Given the description of an element on the screen output the (x, y) to click on. 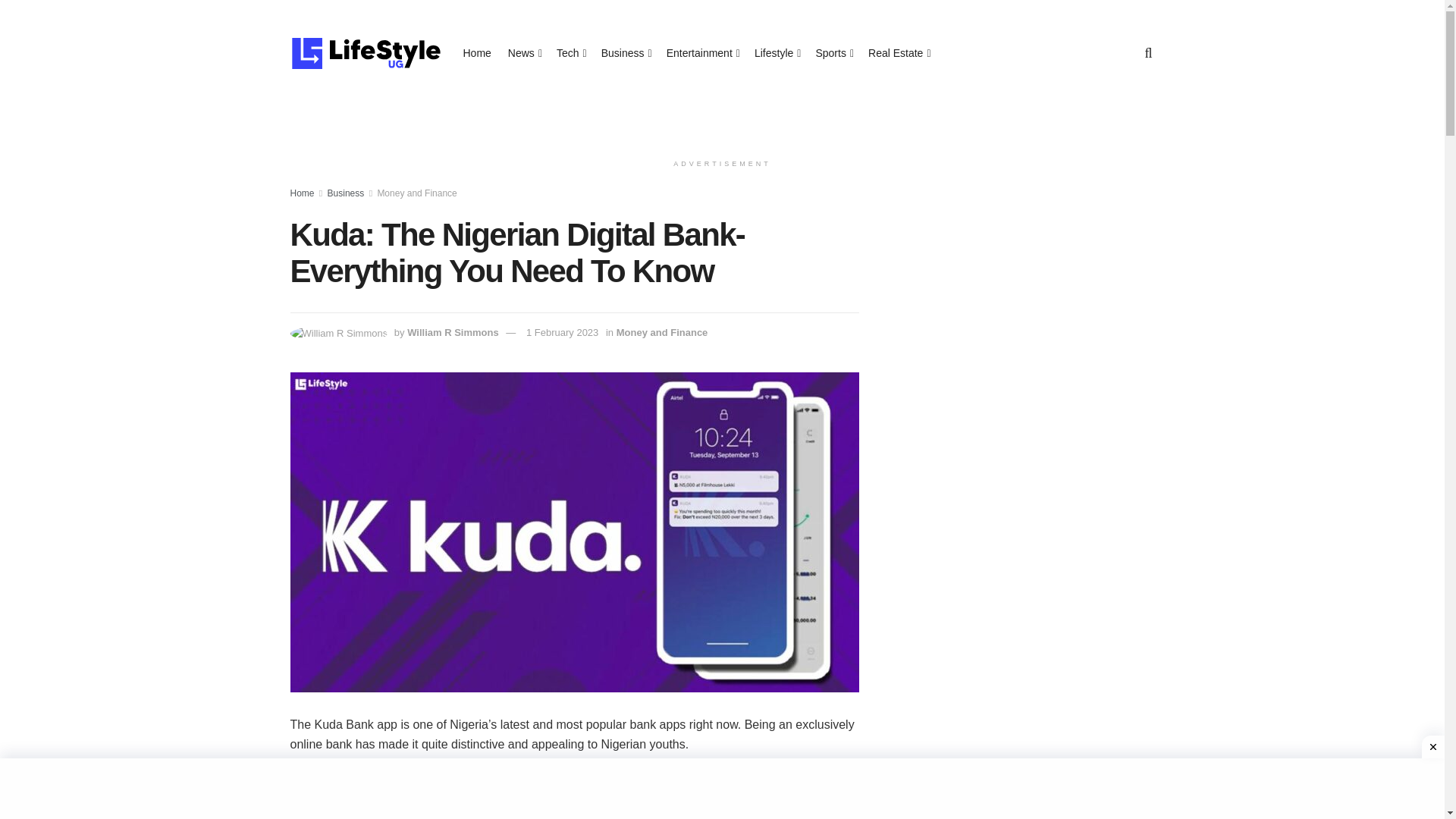
1 February 2023 (561, 332)
Home (301, 193)
Lifestyle (775, 52)
Money and Finance (661, 332)
Business (625, 52)
Real Estate (897, 52)
William R Simmons (453, 332)
Business (346, 193)
Home (476, 52)
Money and Finance (417, 193)
